Given the description of an element on the screen output the (x, y) to click on. 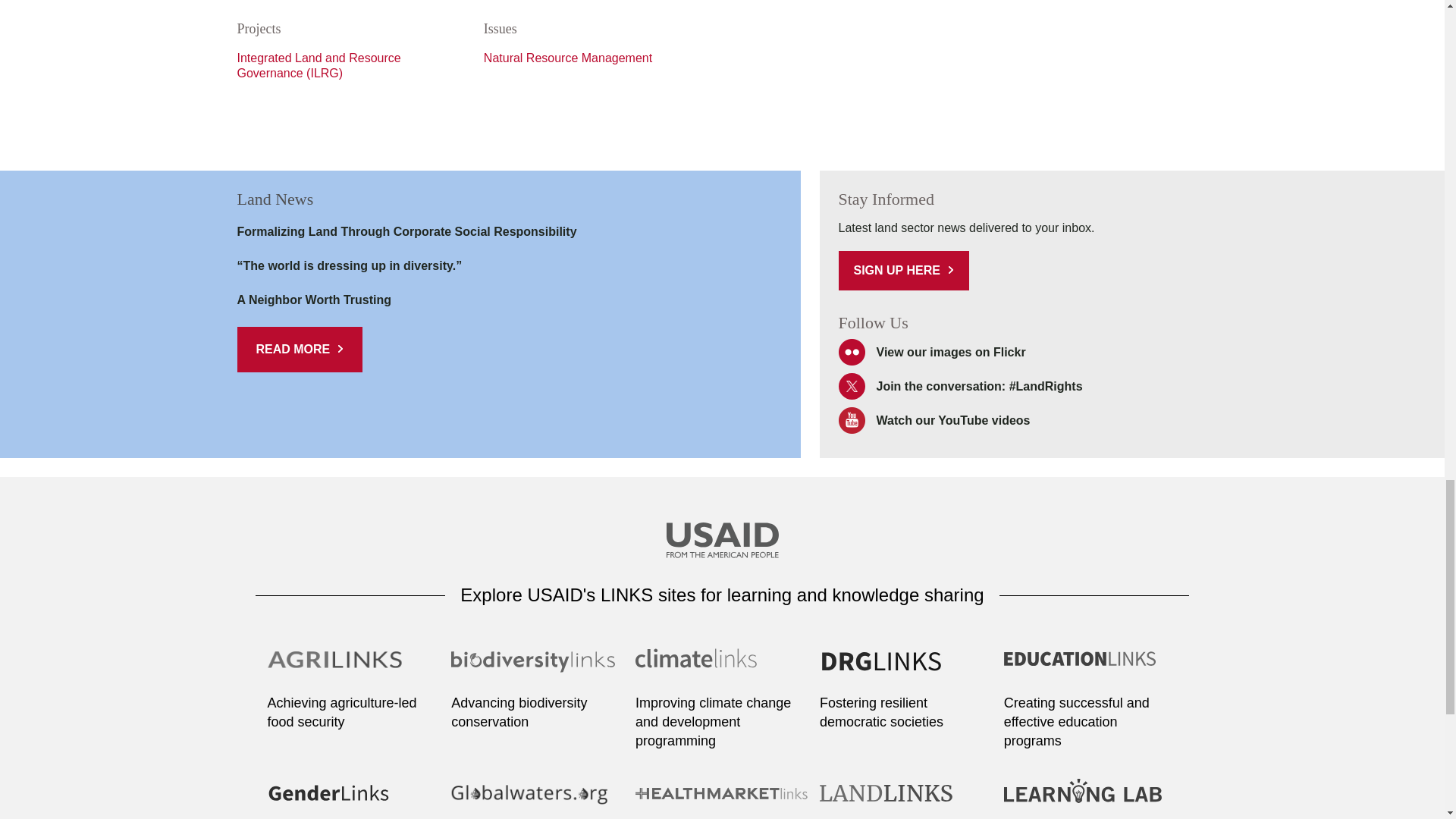
Go to USAID (721, 541)
Go to Biodiversitylinks (537, 668)
Go to Landlinks (905, 801)
Go to LearningLab (1090, 801)
Go to Globalwaters (537, 801)
Go to Healthmarket Links (721, 801)
Go to Climatelinks (721, 668)
Go to Educationlinks (1090, 668)
Go to DRG (905, 668)
Go to Genderlinks (353, 801)
Go to Agrilinks (353, 668)
